Given the description of an element on the screen output the (x, y) to click on. 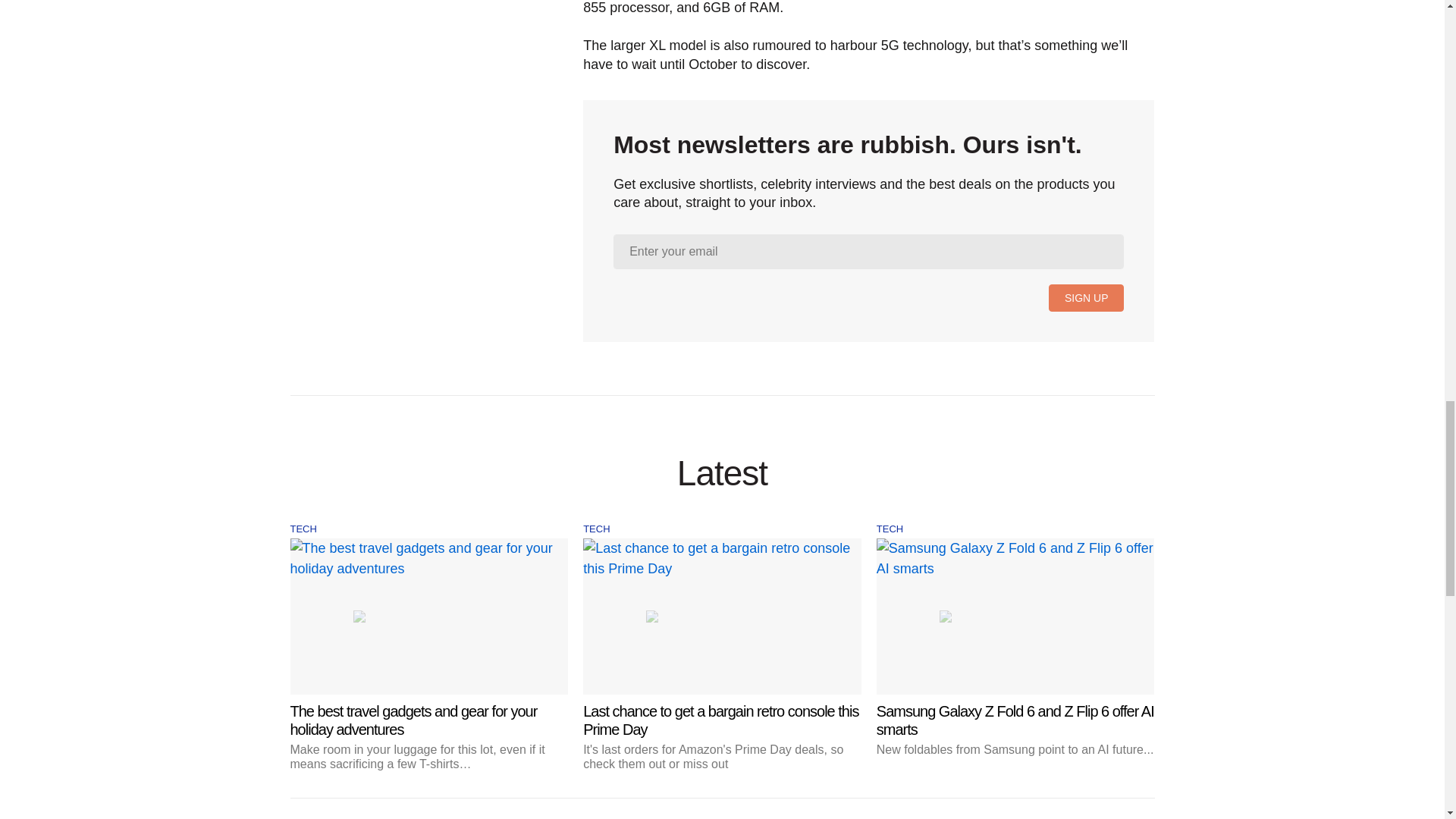
SIGN UP (1086, 298)
The best travel gadgets and gear for your holiday adventures (428, 655)
